Given the description of an element on the screen output the (x, y) to click on. 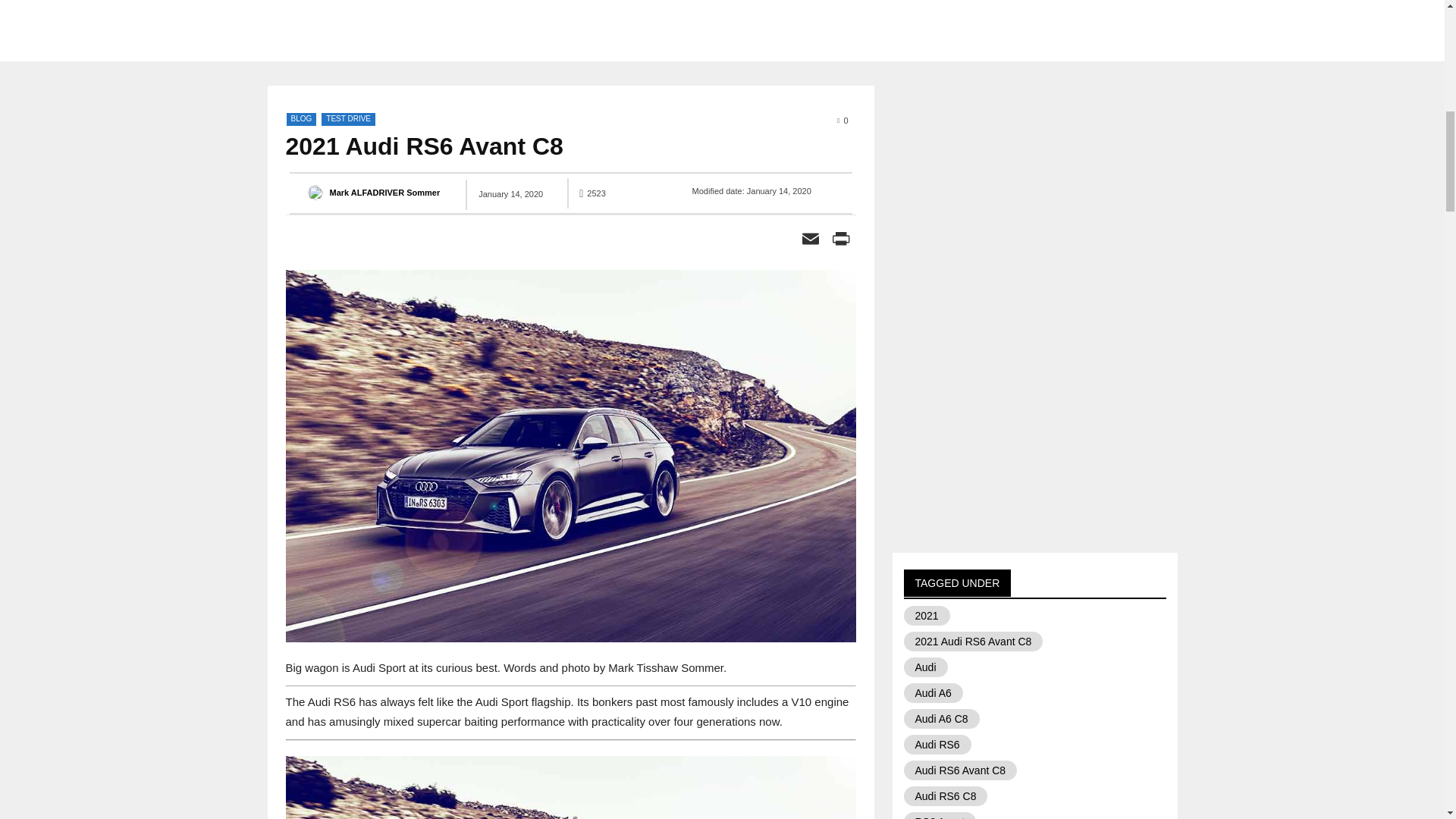
Audi A6 (933, 692)
2021 (927, 615)
Audi (925, 667)
2021 Audi RS6 Avant C8 (973, 641)
 2021 Audi RS6 Avant C8 (570, 787)
Audi A6 C8 (941, 718)
Email (809, 240)
Print (840, 240)
